Given the description of an element on the screen output the (x, y) to click on. 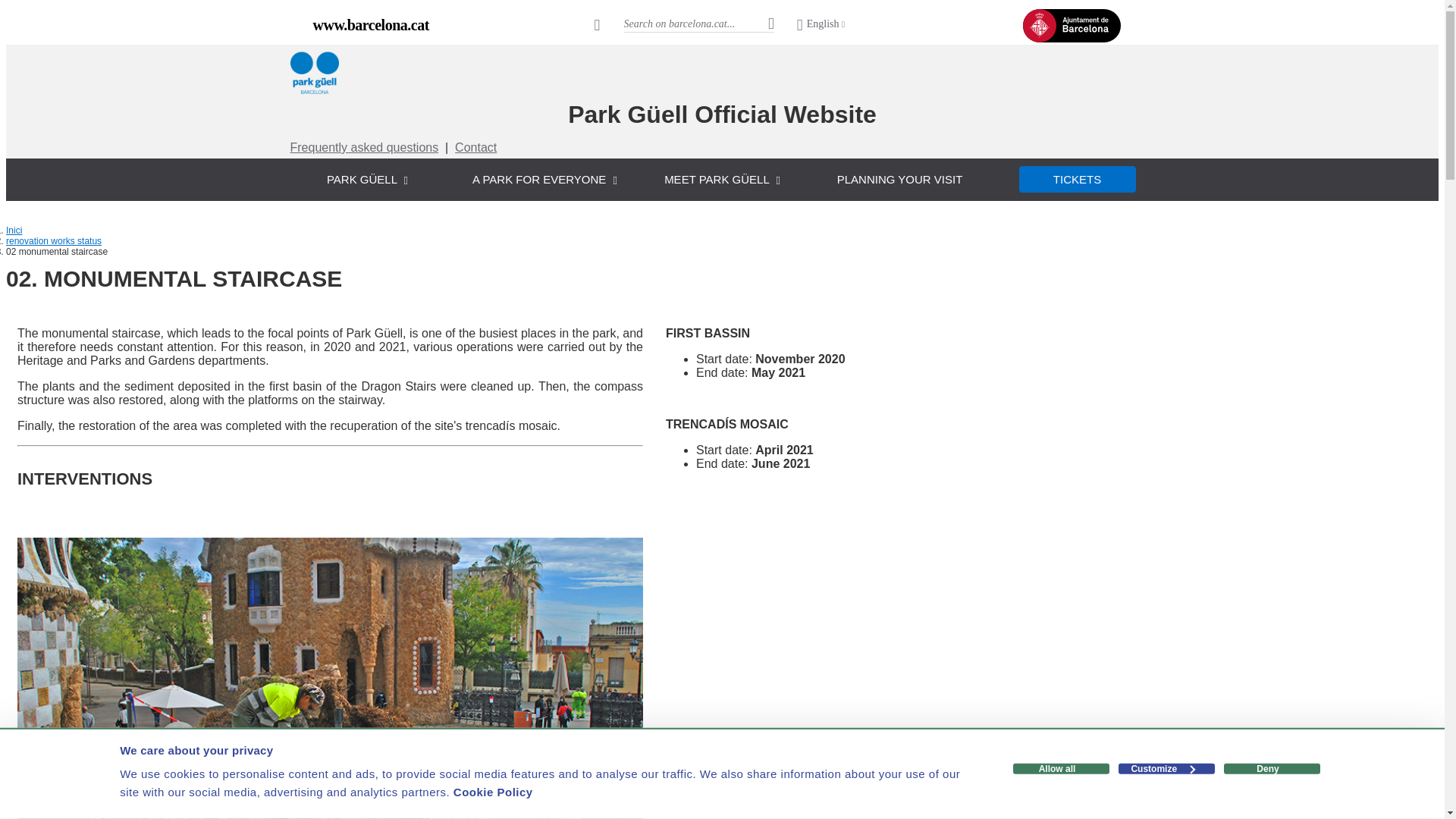
barcelona.cat shortcuts (596, 23)
Allow all (1061, 768)
Customize (1166, 768)
Change language (820, 25)
Deny (1272, 768)
Home (313, 92)
Barcelona (370, 24)
Cookie Policy (492, 791)
